Given the description of an element on the screen output the (x, y) to click on. 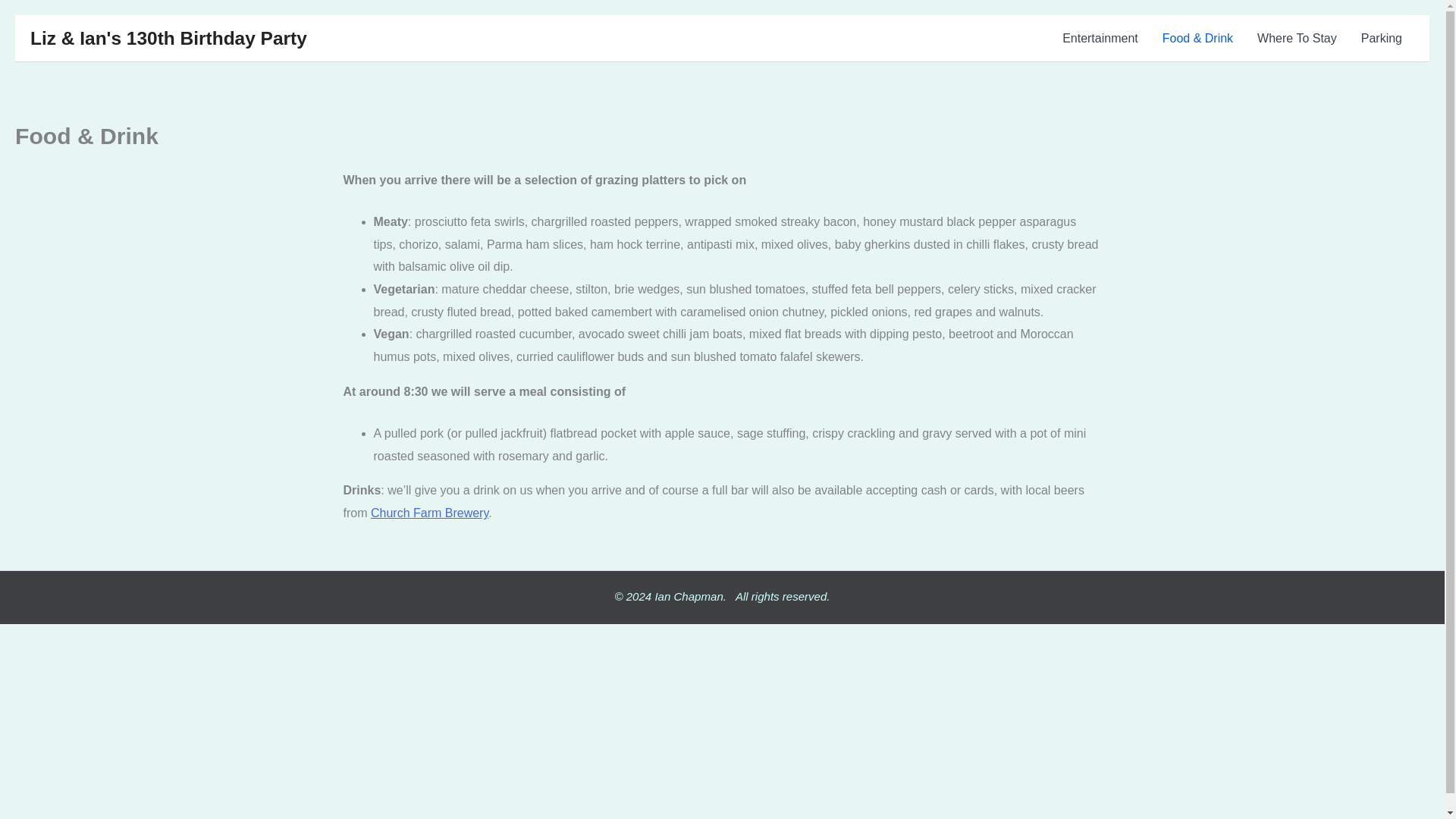
Parking (1381, 38)
Church Farm Brewery (429, 512)
Entertainment (1099, 38)
Where To Stay (1296, 38)
